Given the description of an element on the screen output the (x, y) to click on. 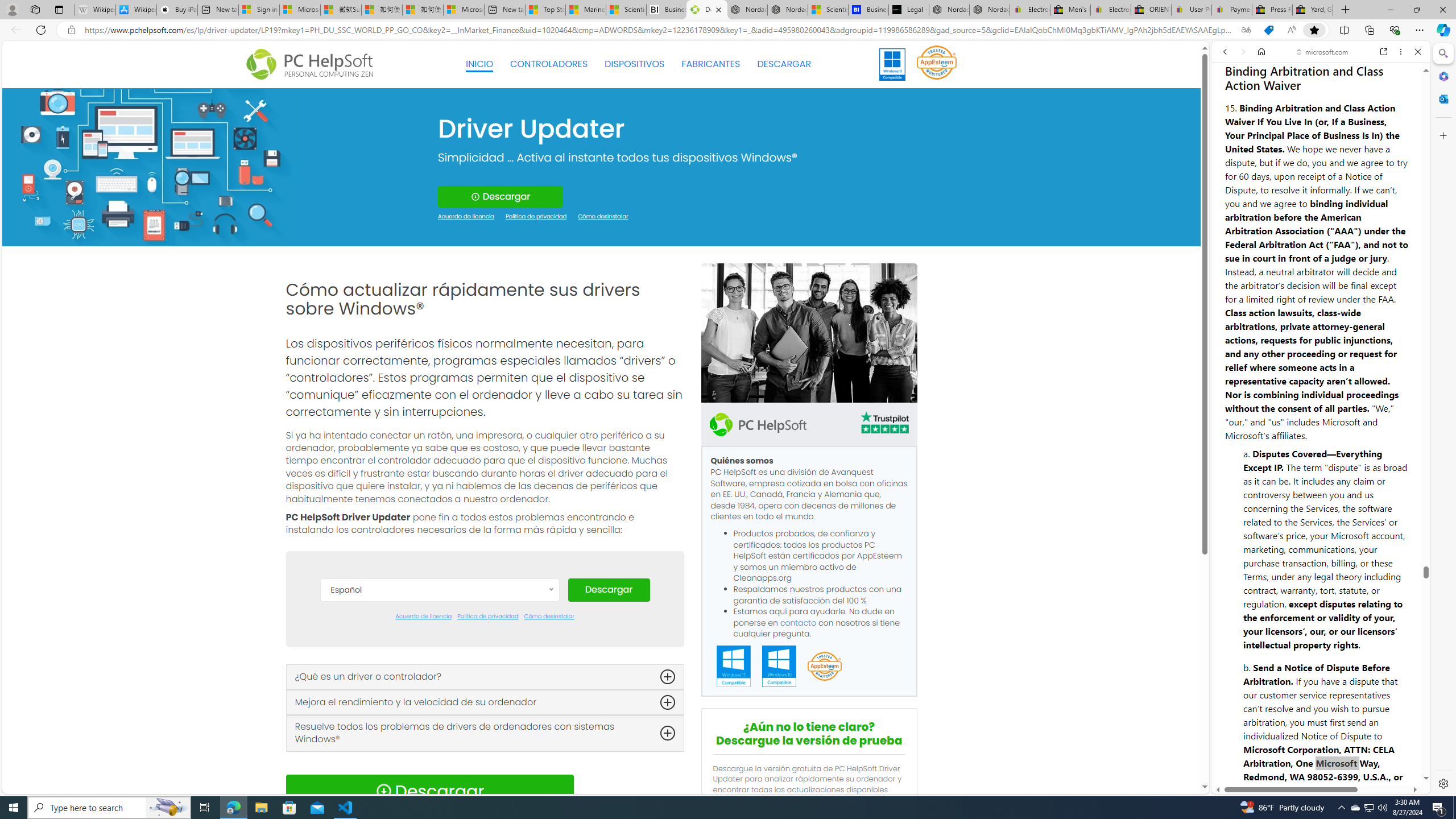
Acuerdo de licencia (423, 615)
Download Icon Descargar (429, 790)
PCHelpsoft (757, 423)
